Given the description of an element on the screen output the (x, y) to click on. 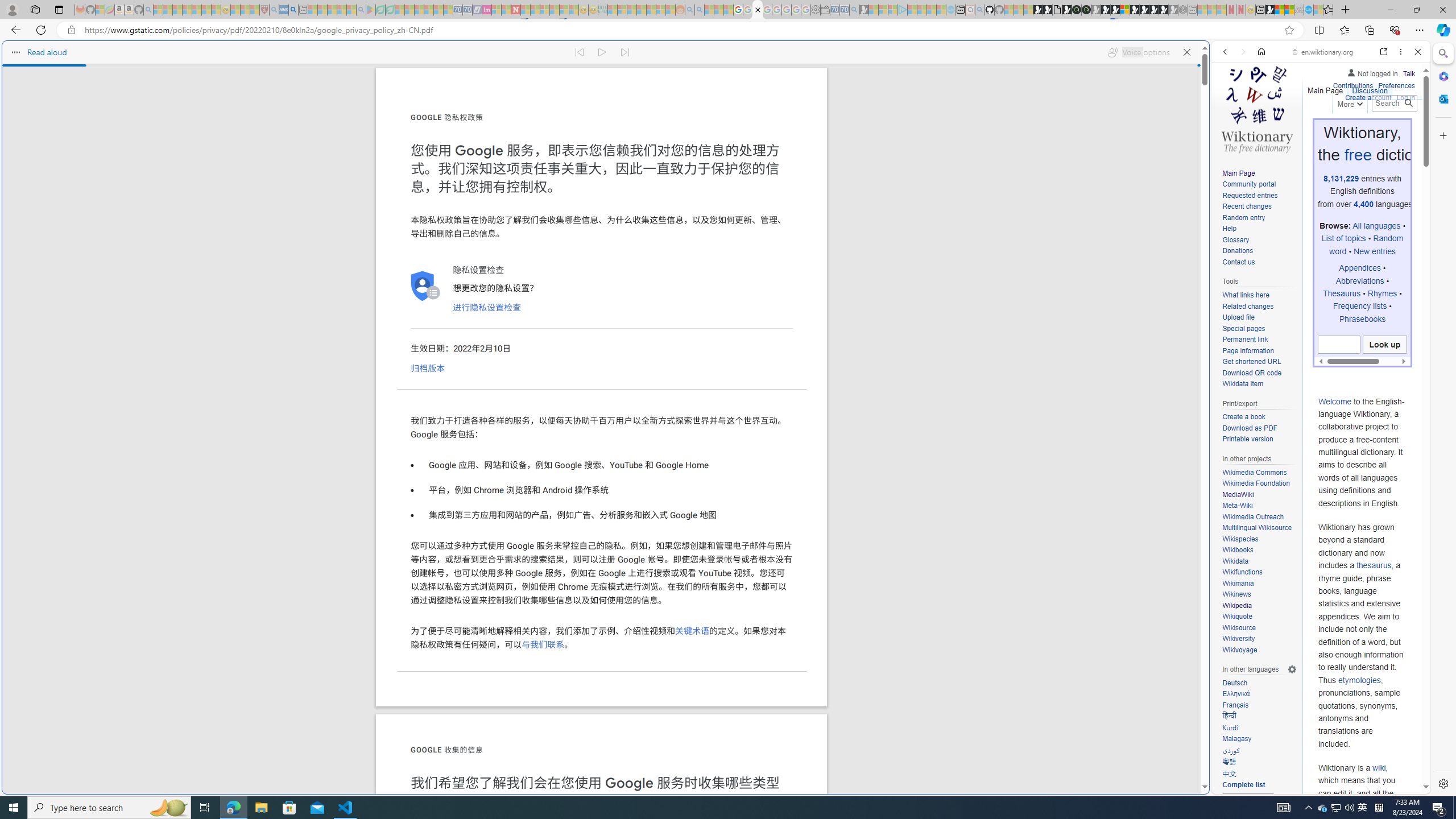
Contact us (1238, 261)
Wikinews (1235, 594)
Wikidata item (1242, 384)
MSNBC - MSN - Sleeping (611, 9)
Wikiversity (1238, 638)
Thesaurus (1342, 293)
Wikidata (1235, 560)
Wikidata item (1259, 383)
Wikimania (1237, 583)
Create a book (1243, 416)
Microsoft Start Gaming - Sleeping (863, 9)
Appendices (1359, 267)
Meta-Wiki (1237, 505)
